Given the description of an element on the screen output the (x, y) to click on. 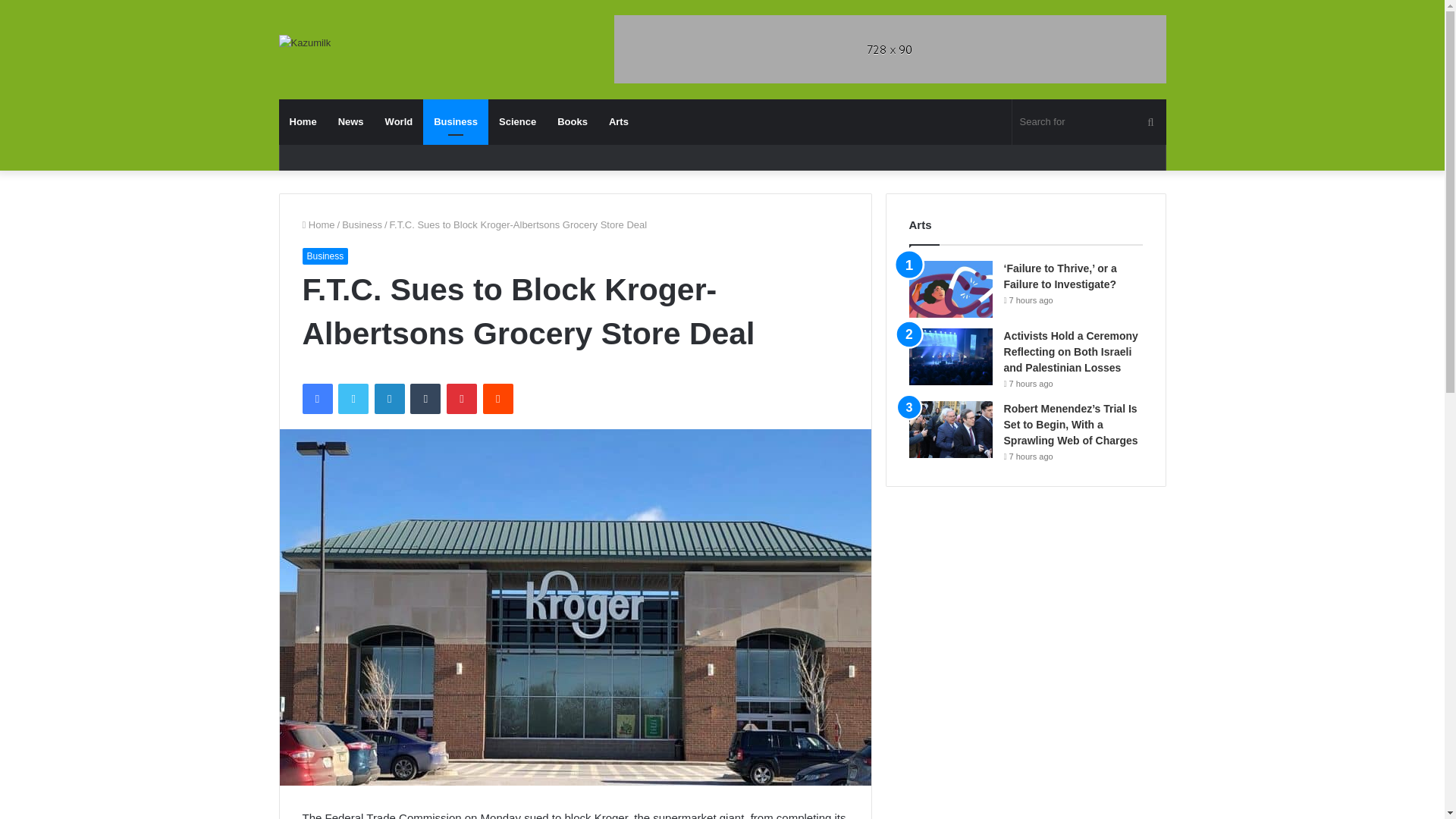
LinkedIn (389, 399)
Books (572, 121)
Home (317, 224)
Search for (1088, 121)
Facebook (316, 399)
Business (324, 256)
Twitter (352, 399)
Home (303, 121)
Pinterest (461, 399)
News (350, 121)
Business (361, 224)
Facebook (316, 399)
Reddit (498, 399)
Kazumilk (305, 42)
Reddit (498, 399)
